Given the description of an element on the screen output the (x, y) to click on. 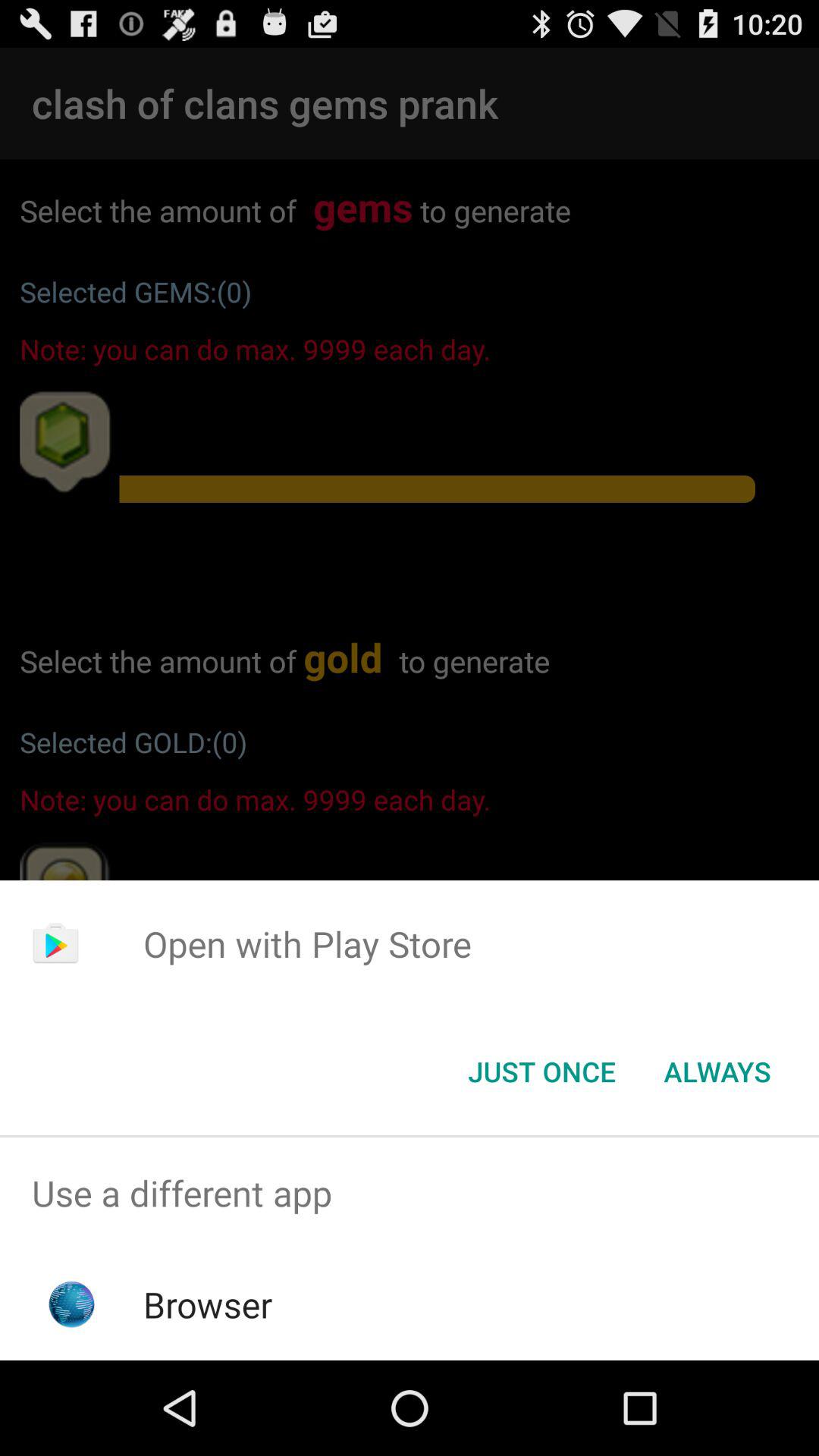
tap icon next to just once (717, 1071)
